Given the description of an element on the screen output the (x, y) to click on. 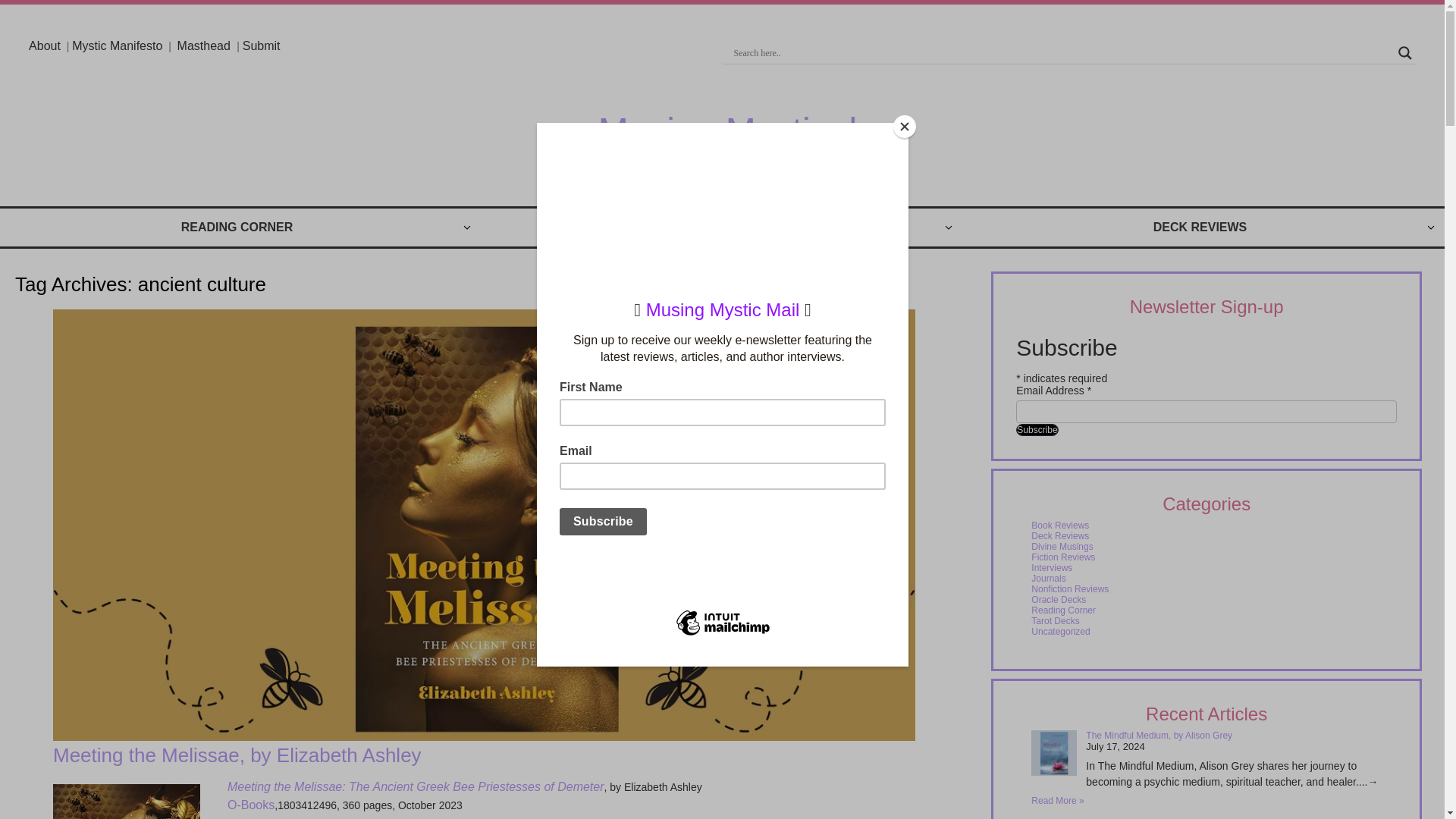
About (45, 45)
Meeting the Melissae, by Elizabeth Ashley (237, 754)
Mystic Manifesto (116, 45)
BOOK REVIEWS (721, 227)
Submit (262, 45)
Subscribe (1037, 429)
O-Books (251, 804)
Musing Mystical (727, 130)
Musing Mystical (727, 130)
DECK REVIEWS (1203, 227)
READING CORNER (240, 227)
Masthead  (205, 45)
Permalink to Meeting the Melissae, by Elizabeth Ashley (237, 754)
